Given the description of an element on the screen output the (x, y) to click on. 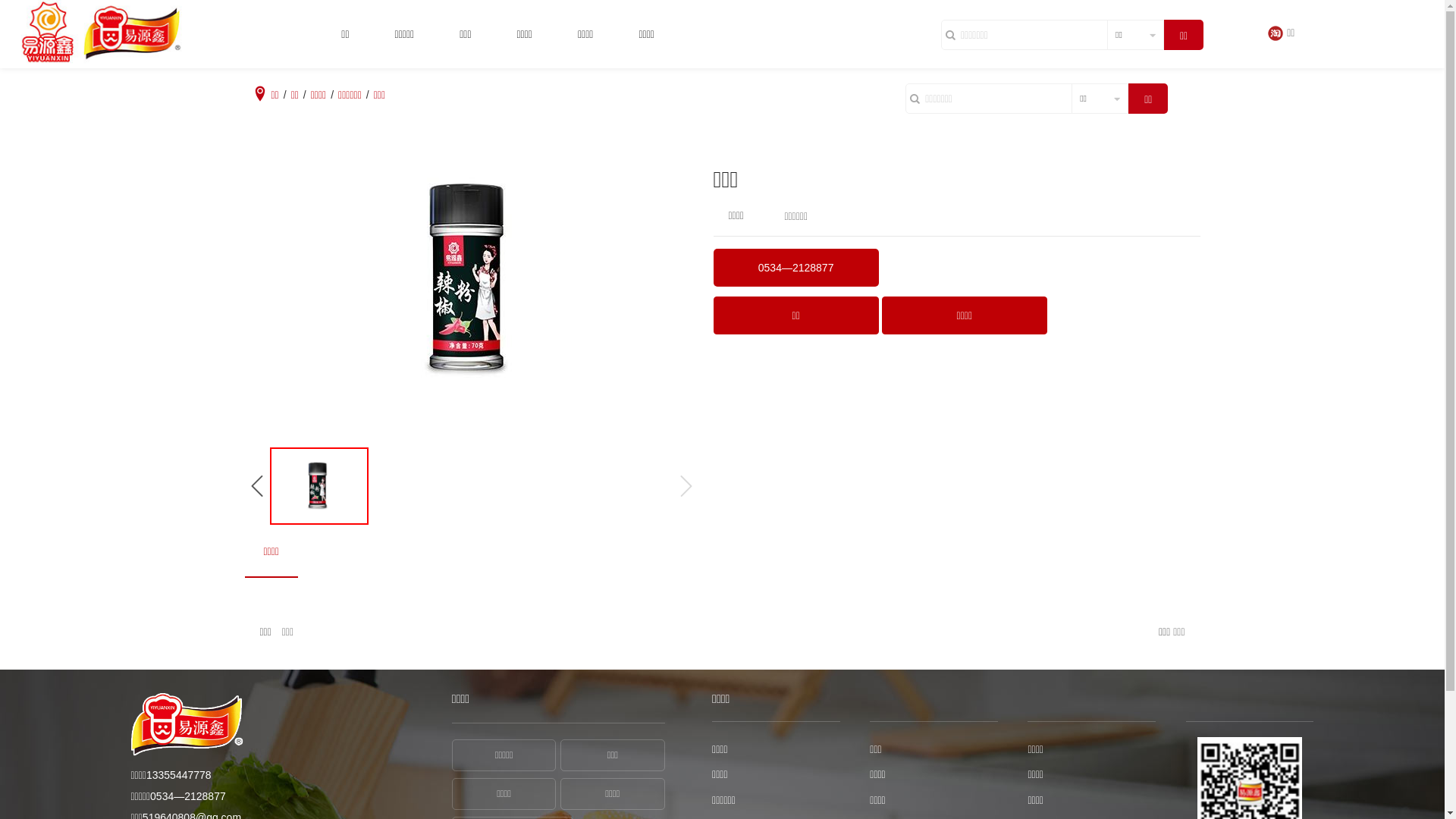
ENTER Element type: text (1268, 76)
13355447778 Element type: text (178, 774)
